Given the description of an element on the screen output the (x, y) to click on. 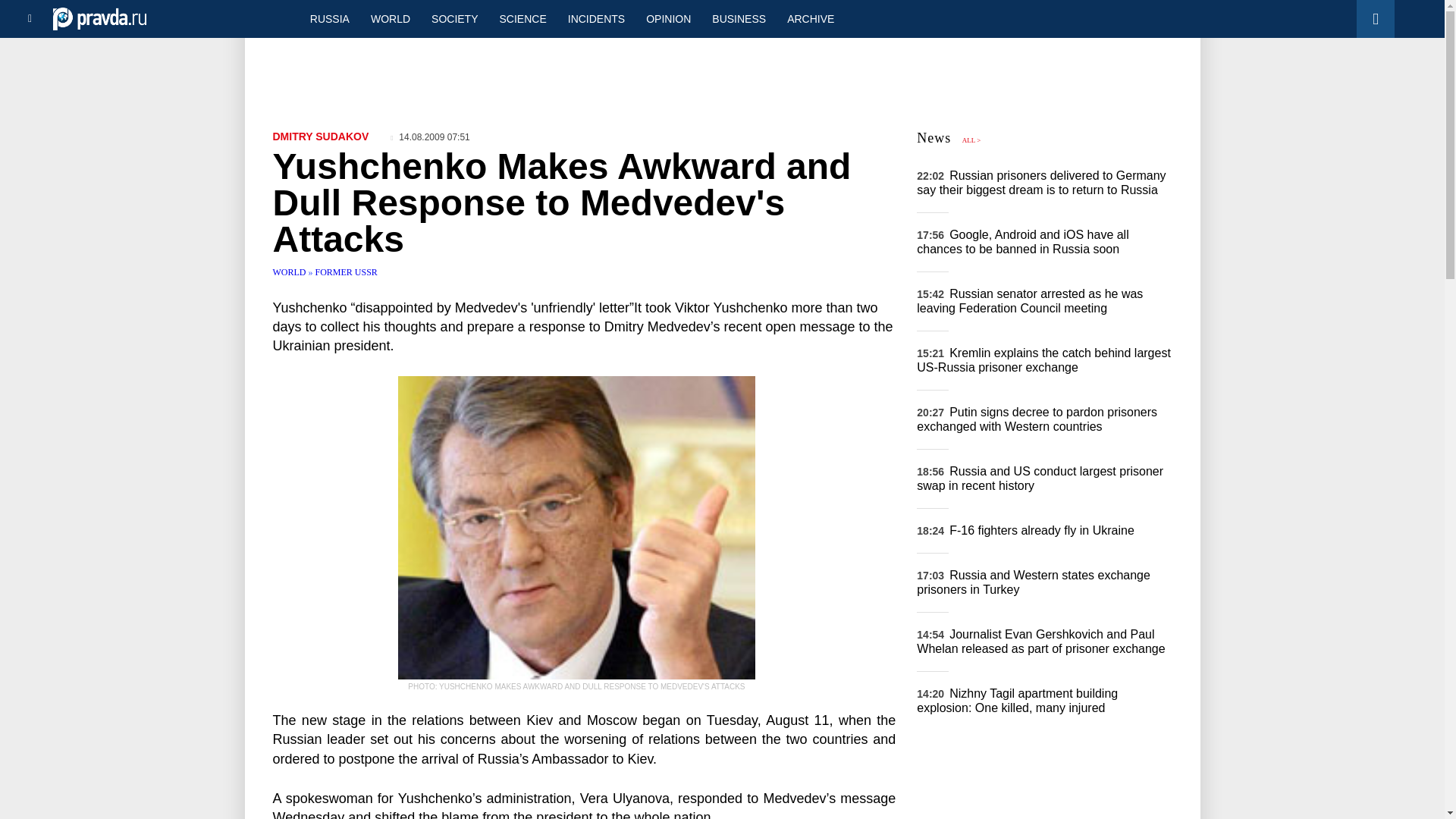
News (933, 137)
WORLD (389, 18)
WORLD (290, 271)
INCIDENTS (595, 18)
SOCIETY (453, 18)
DMITRY SUDAKOV (321, 136)
SCIENCE (523, 18)
Published (430, 136)
BUSINESS (738, 18)
